Given the description of an element on the screen output the (x, y) to click on. 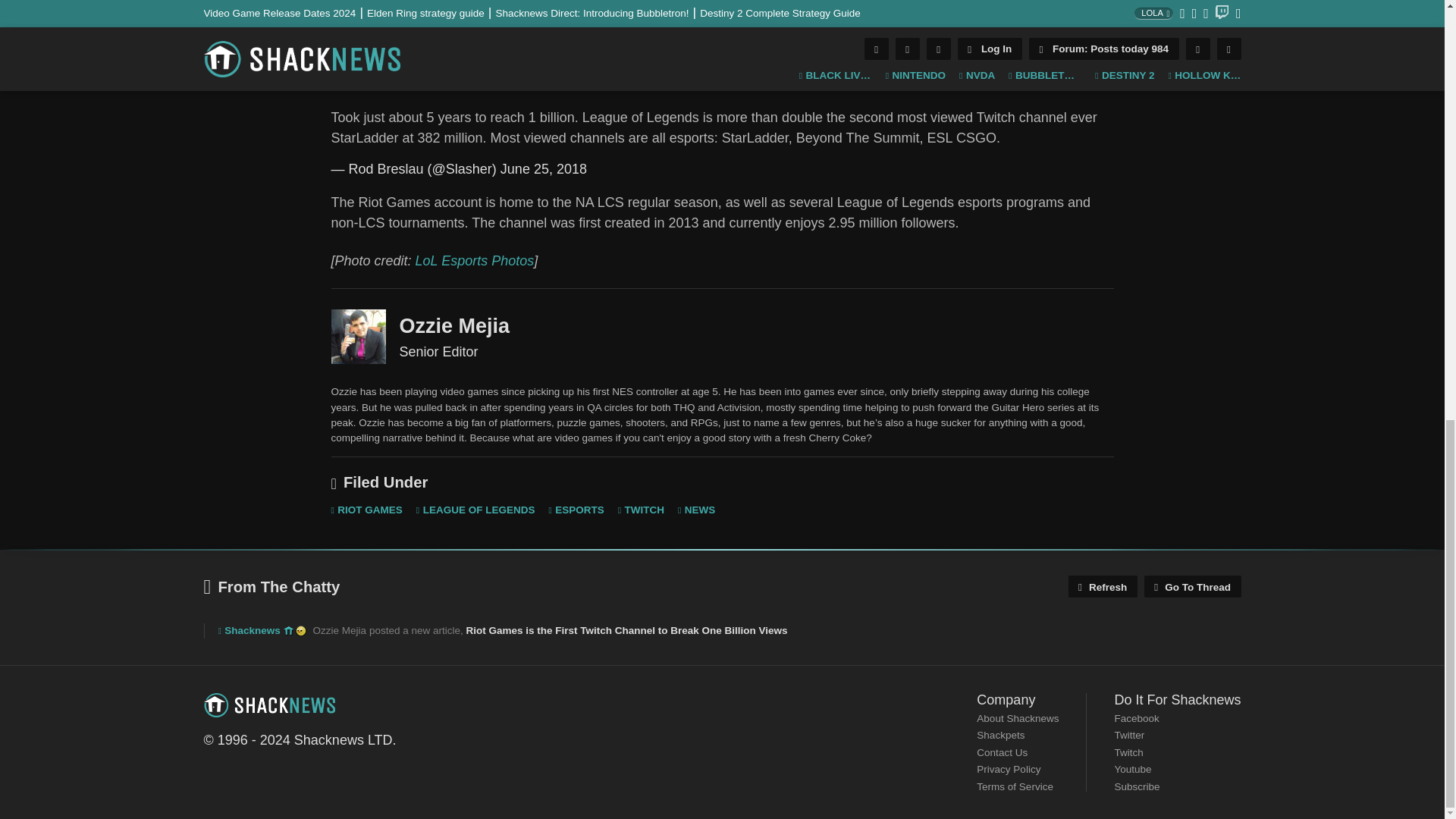
legacy 10 years (288, 630)
Senior Editor (357, 336)
legacy 20 years (300, 630)
